Given the description of an element on the screen output the (x, y) to click on. 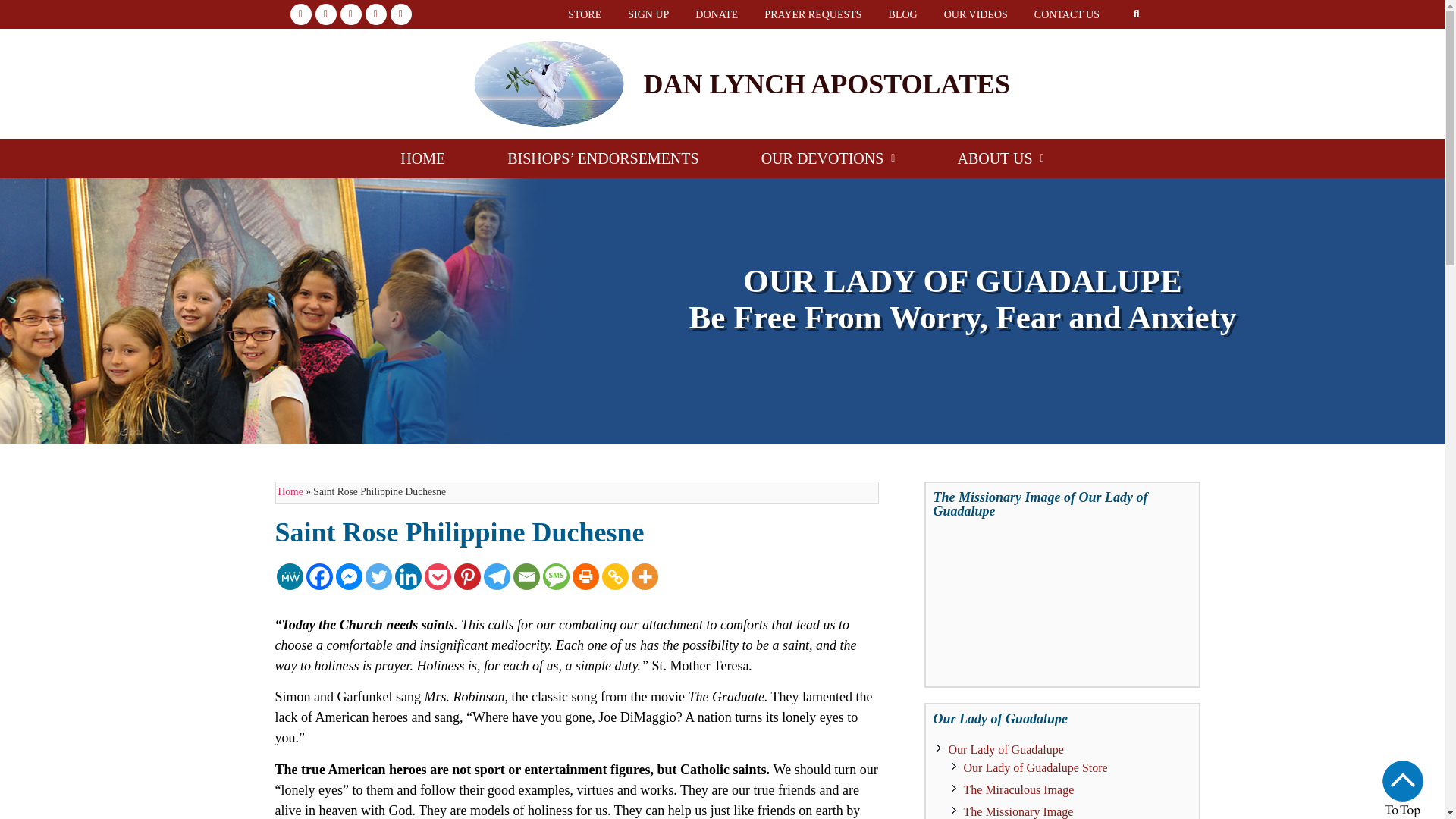
MeWe (289, 576)
Copy Link (615, 576)
OUR VIDEOS (975, 13)
More (644, 576)
CONTACT US (1066, 13)
Telegram (497, 576)
DONATE (716, 13)
HOME (422, 158)
Pocket (438, 576)
OUR DEVOTIONS (828, 158)
SIGN UP (647, 13)
ABOUT US (1000, 158)
Linkedin (407, 576)
Facebook (319, 576)
Pinterest (466, 576)
